Given the description of an element on the screen output the (x, y) to click on. 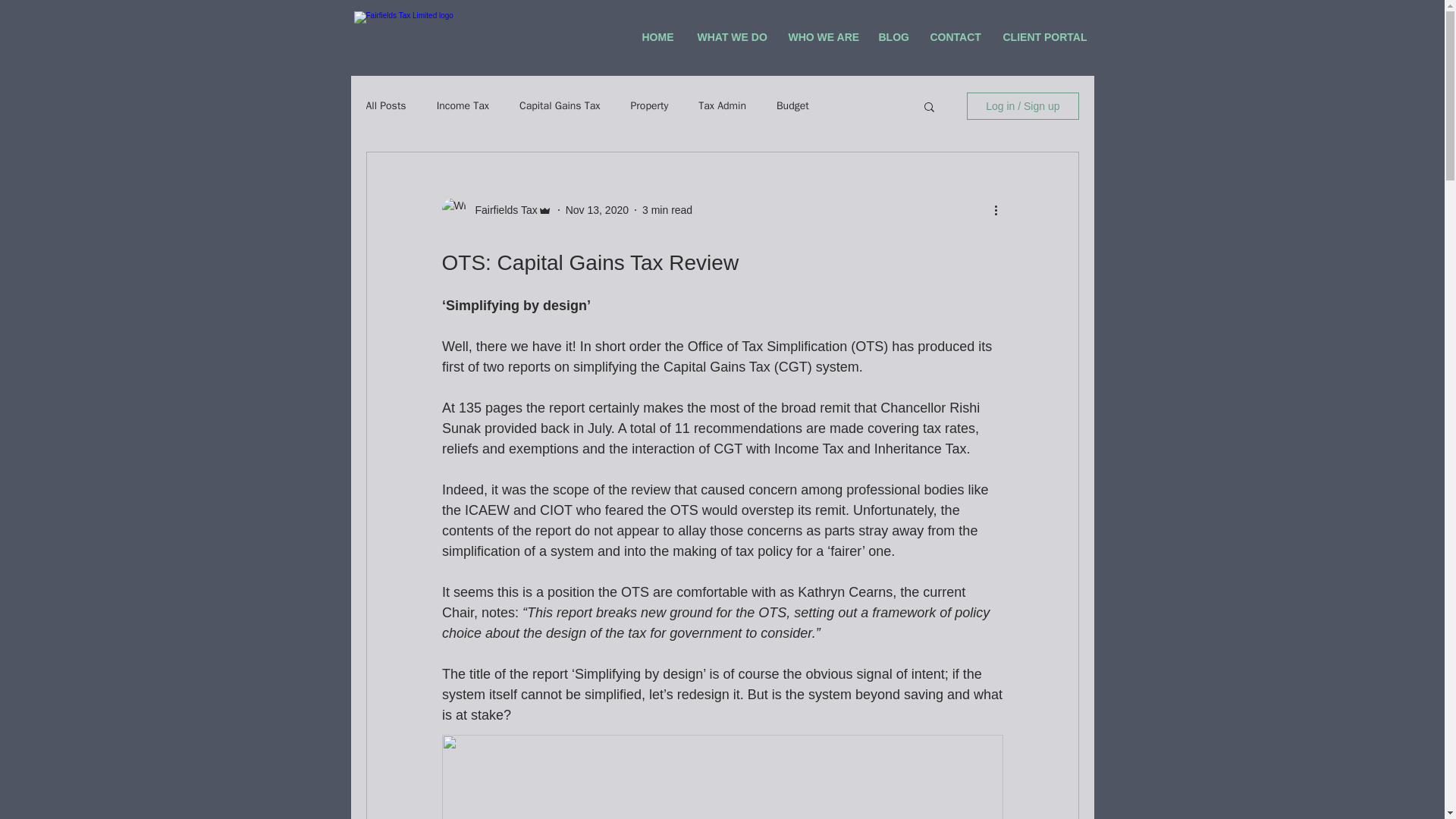
Capital Gains Tax (559, 106)
Property (649, 106)
Tax Admin (721, 106)
Nov 13, 2020 (597, 209)
CONTACT (954, 37)
HOME (656, 37)
Fairfields Tax (501, 209)
Income Tax (462, 106)
WHAT WE DO (730, 37)
Budget (792, 106)
